Given the description of an element on the screen output the (x, y) to click on. 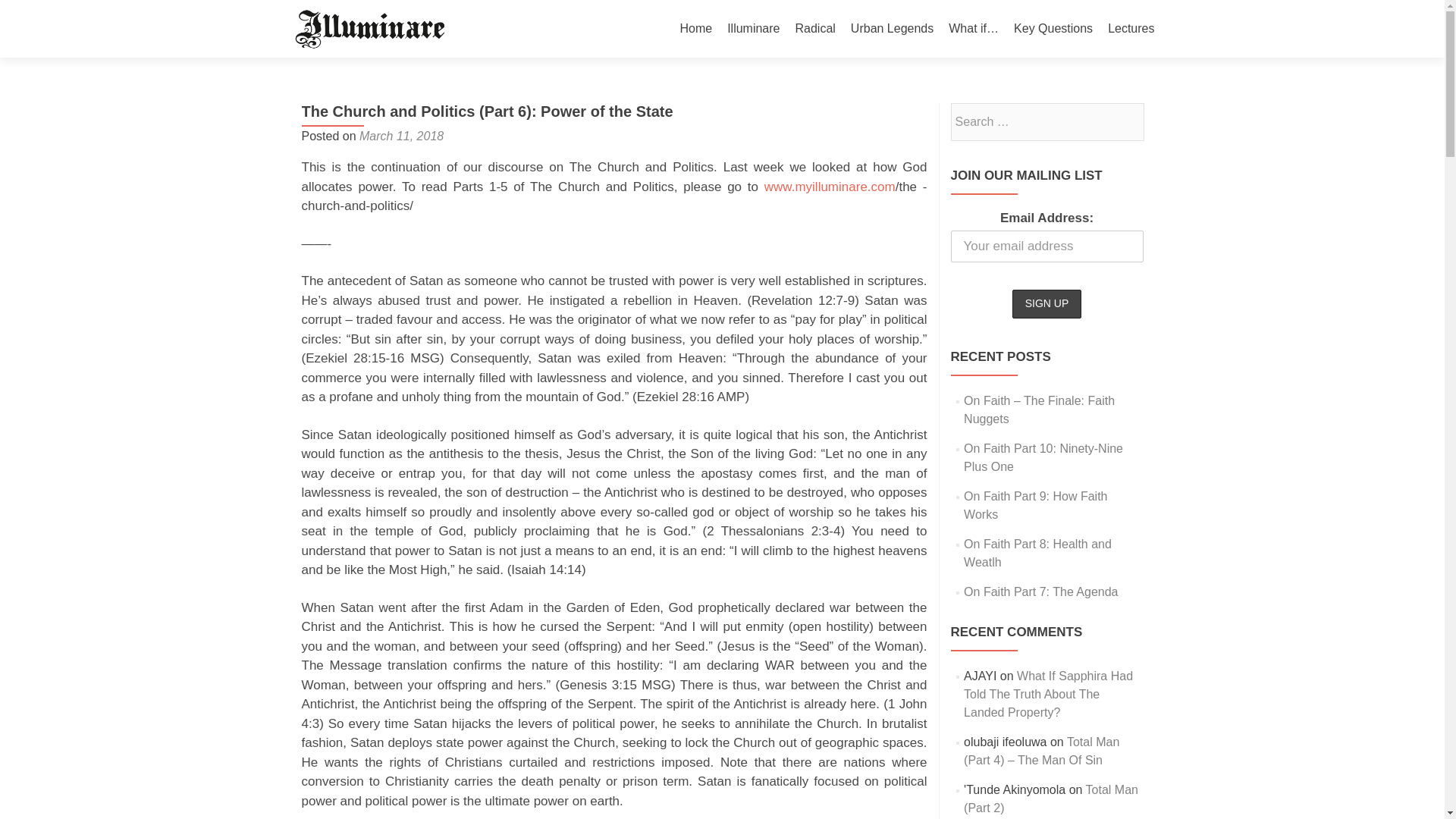
Sign up (1046, 303)
Radical (814, 28)
Search (1125, 120)
Urban Legends (891, 28)
On Faith Part 10: Ninety-Nine Plus One (1042, 457)
Home (695, 28)
www.myilluminare.com (829, 186)
March 11, 2018 (401, 135)
Search (1125, 120)
On Faith Part 8: Health and Weatlh (1037, 552)
Search (1125, 120)
Lectures (1131, 28)
On Faith Part 7: The Agenda (1040, 591)
Key Questions (1053, 28)
